Given the description of an element on the screen output the (x, y) to click on. 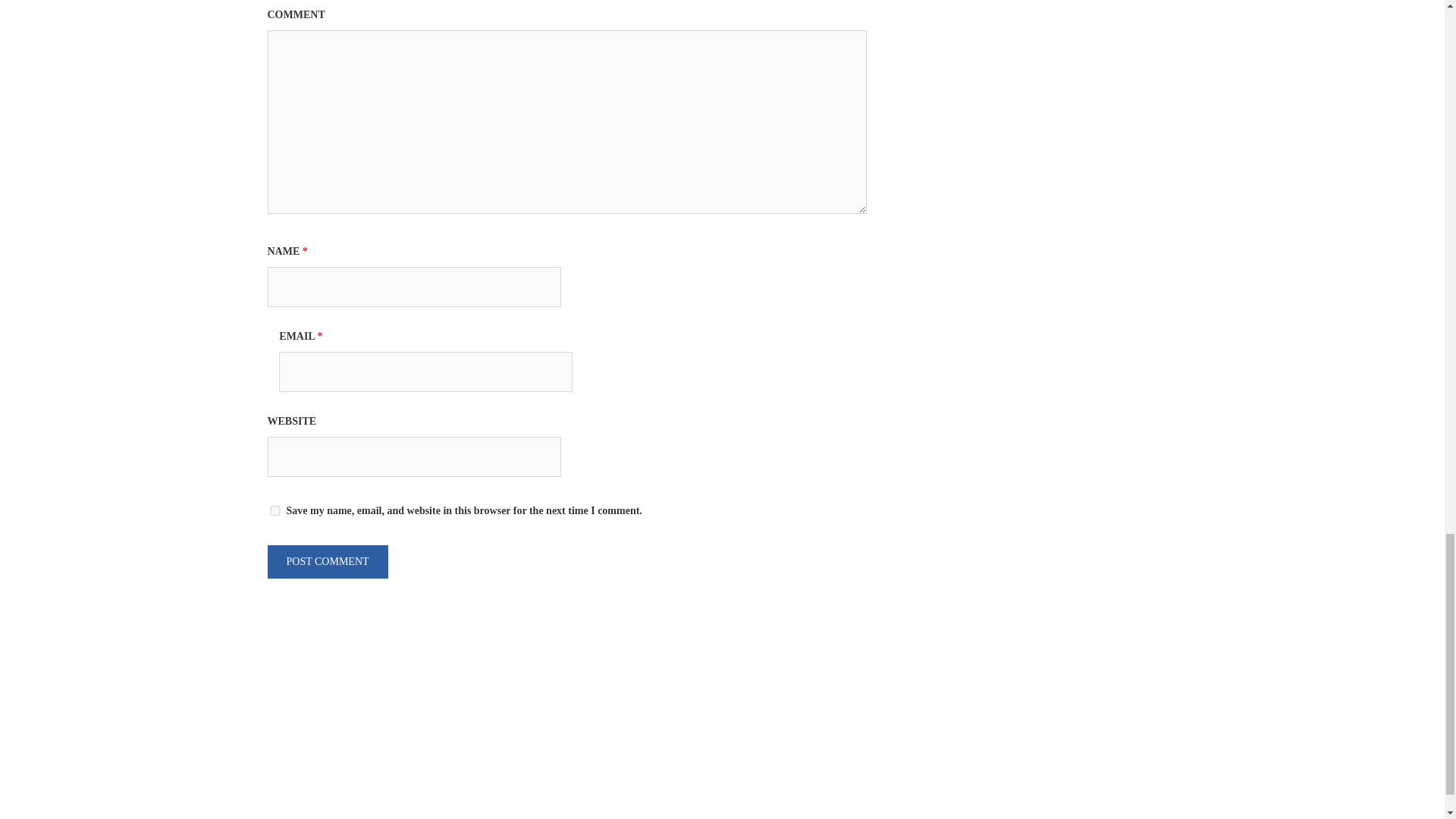
yes (274, 510)
Post Comment (326, 561)
Post Comment (326, 561)
